Given the description of an element on the screen output the (x, y) to click on. 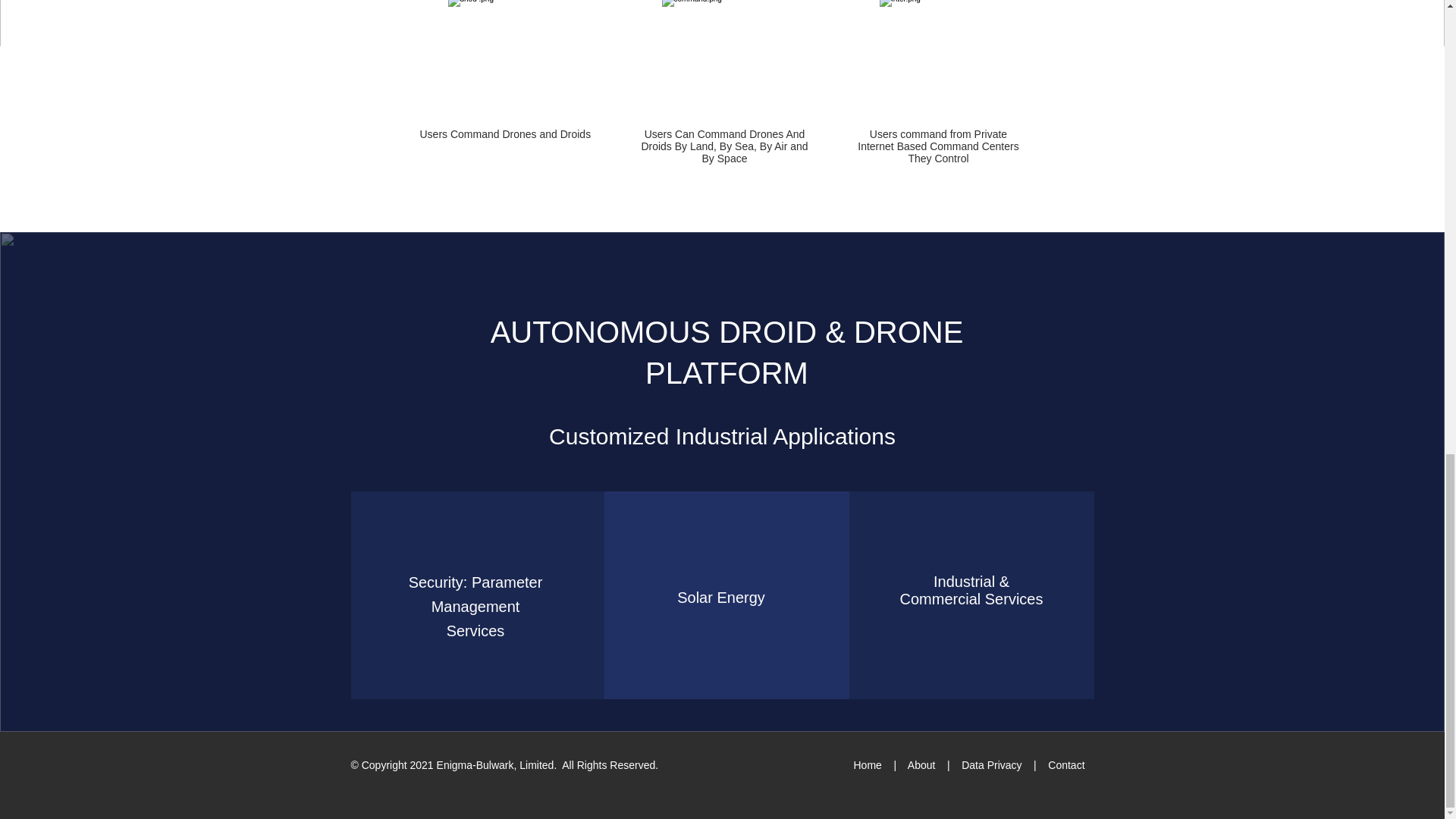
About (921, 765)
Home  (869, 765)
Contact (1066, 765)
